Given the description of an element on the screen output the (x, y) to click on. 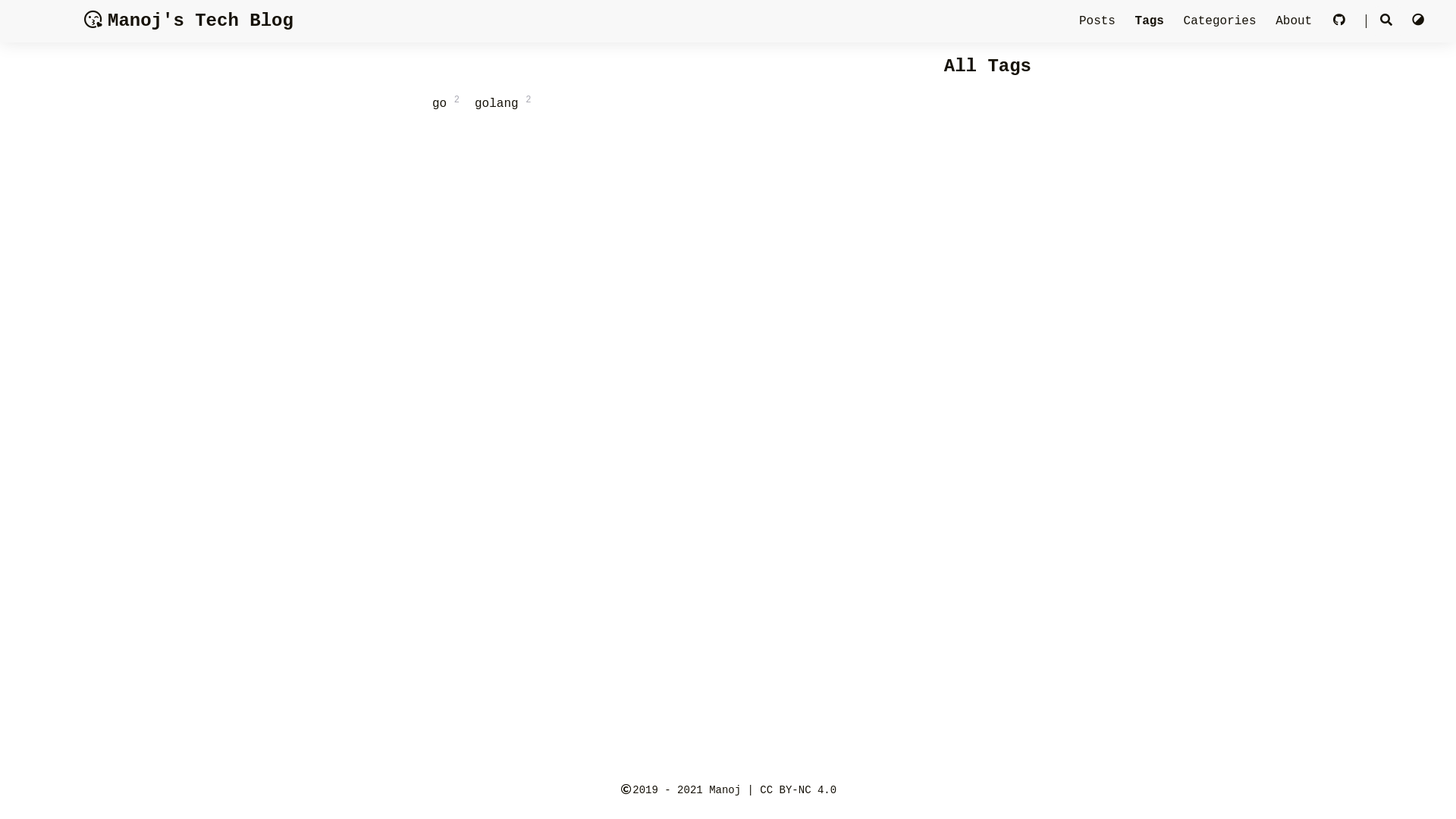
About Element type: text (1297, 21)
golang 2 Element type: text (502, 103)
Search Element type: hover (1385, 21)
Posts Element type: text (1101, 21)
Manoj's Tech Blog Element type: text (187, 20)
Categories Element type: text (1223, 21)
go 2 Element type: text (445, 103)
Switch Theme Element type: hover (1417, 21)
Manoj Element type: text (724, 790)
Tags Element type: text (1153, 21)
GitHub Element type: hover (1342, 21)
CC BY-NC 4.0 Element type: text (797, 790)
